Given the description of an element on the screen output the (x, y) to click on. 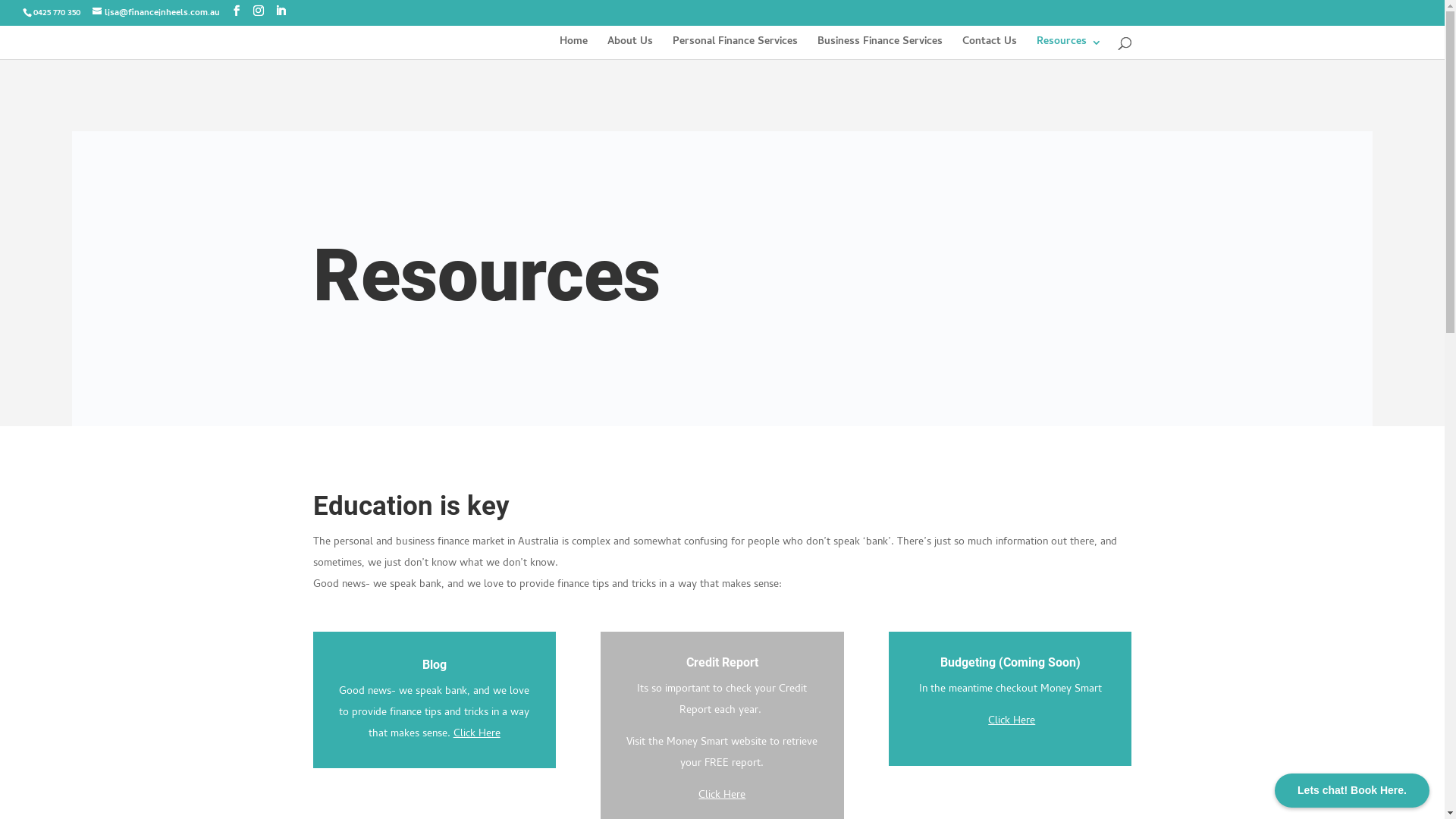
Business Finance Services Element type: text (879, 48)
Click Here Element type: text (721, 795)
Resources Element type: text (1068, 48)
Contact Us Element type: text (988, 48)
Personal Finance Services Element type: text (734, 48)
lisa@financeinheels.com.au Element type: text (155, 13)
About Us Element type: text (629, 48)
Click Here Element type: text (476, 734)
Click Here Element type: text (1011, 721)
Home Element type: text (573, 48)
